Given the description of an element on the screen output the (x, y) to click on. 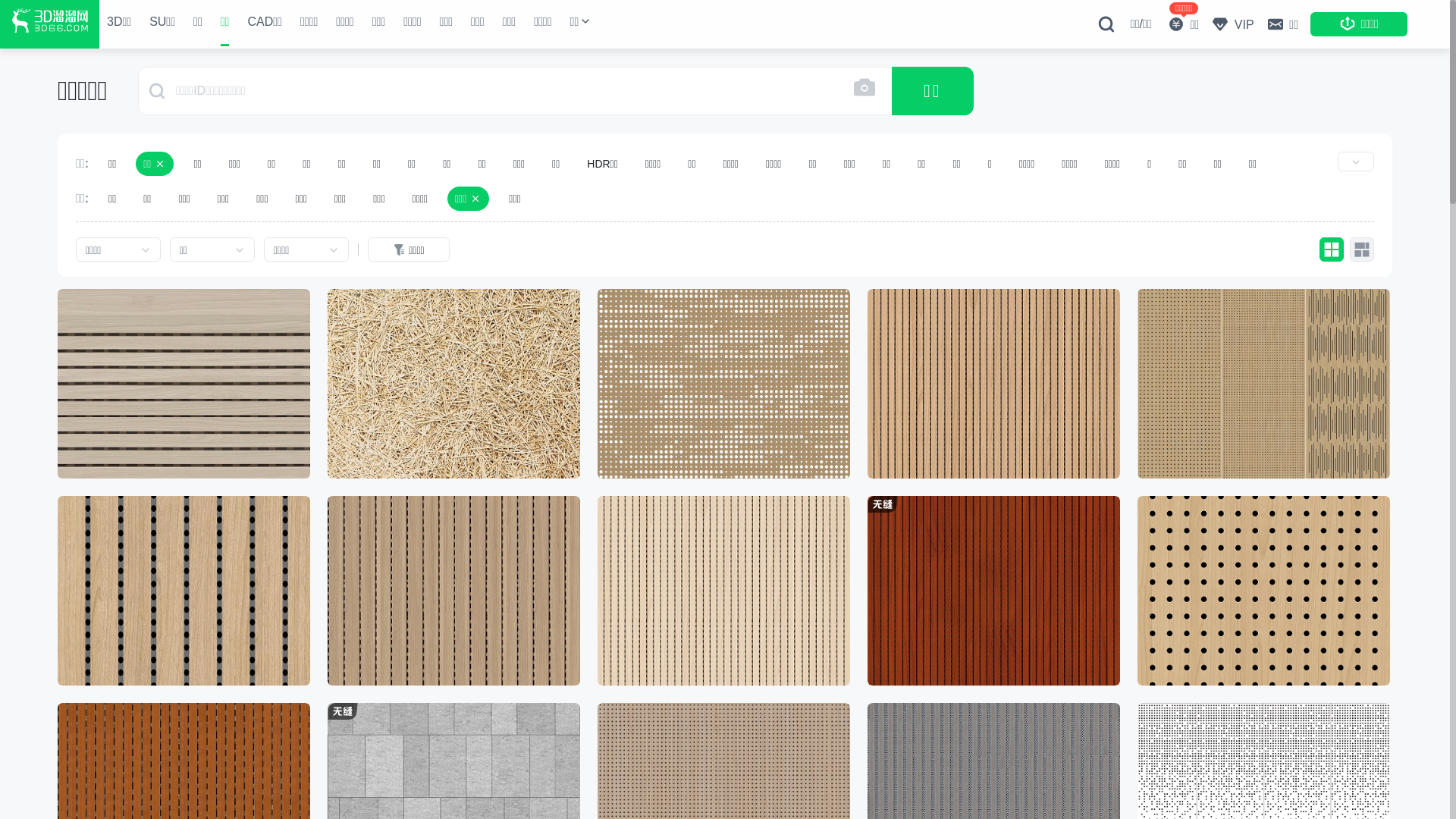
VIP Element type: text (1232, 23)
